Given the description of an element on the screen output the (x, y) to click on. 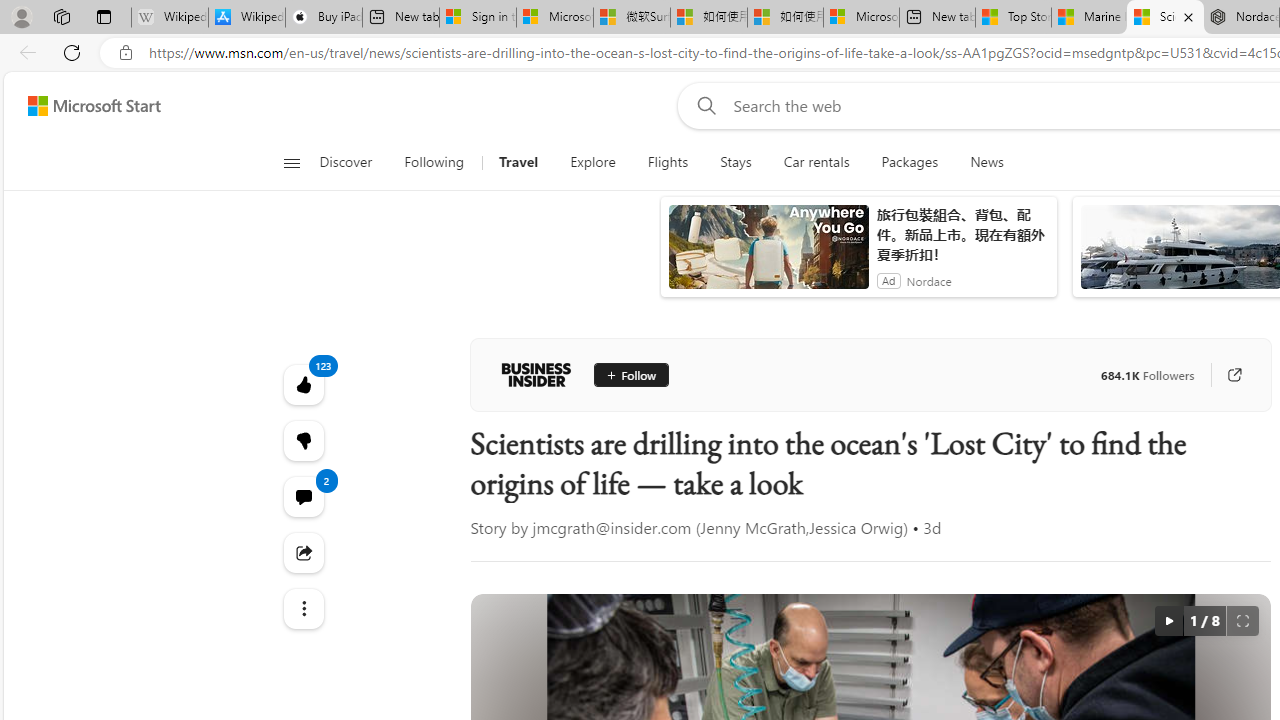
Buy iPad - Apple (323, 17)
Explore (593, 162)
Car rentals (816, 162)
Flights (668, 162)
123 (302, 440)
Stays (736, 162)
